Given the description of an element on the screen output the (x, y) to click on. 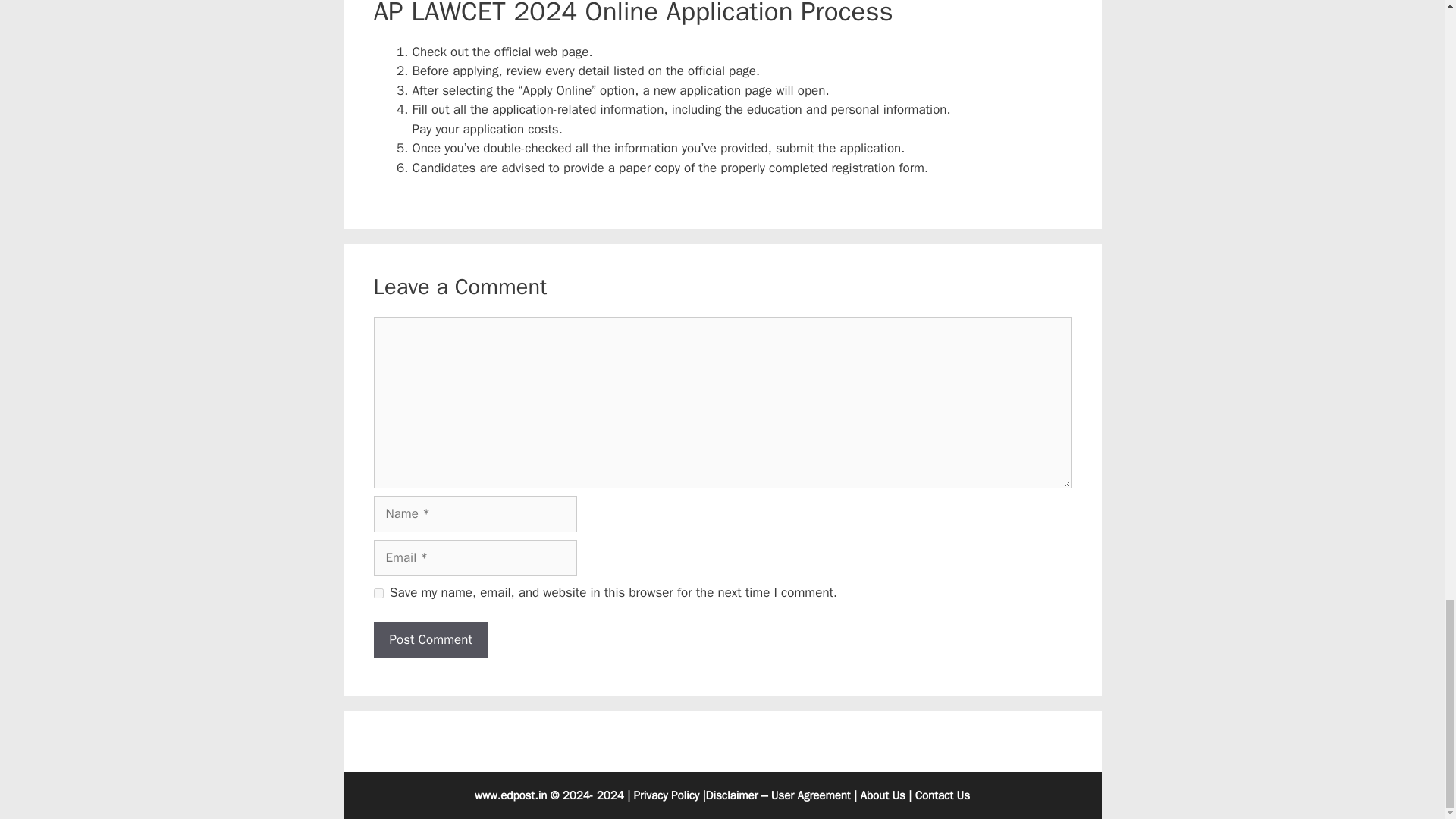
Contact Us (942, 795)
Privacy Policy (666, 795)
Post Comment (429, 639)
Post Comment (429, 639)
yes (377, 593)
About Us (882, 795)
